Given the description of an element on the screen output the (x, y) to click on. 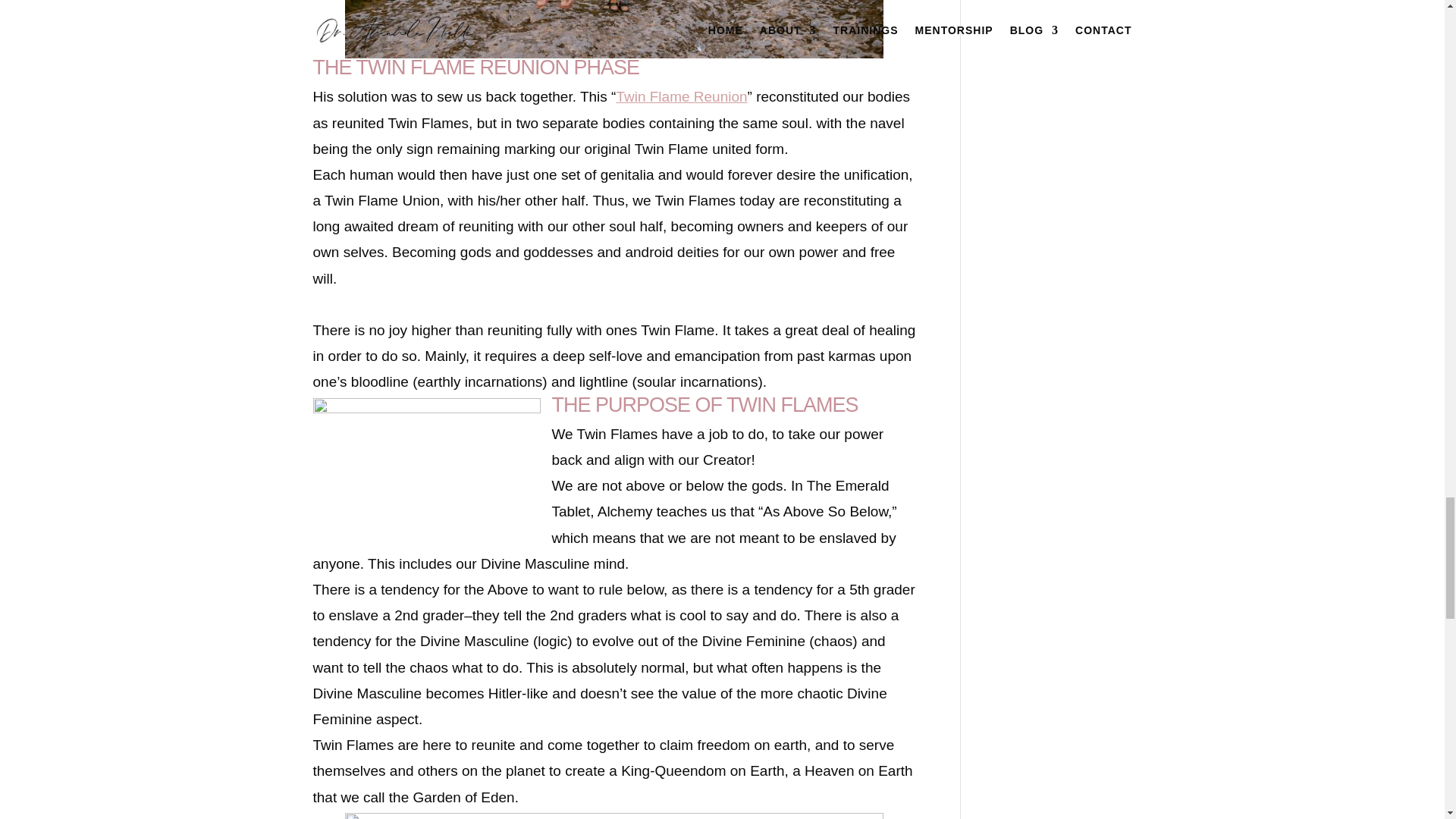
Twin Flame Reunion (680, 96)
